Given the description of an element on the screen output the (x, y) to click on. 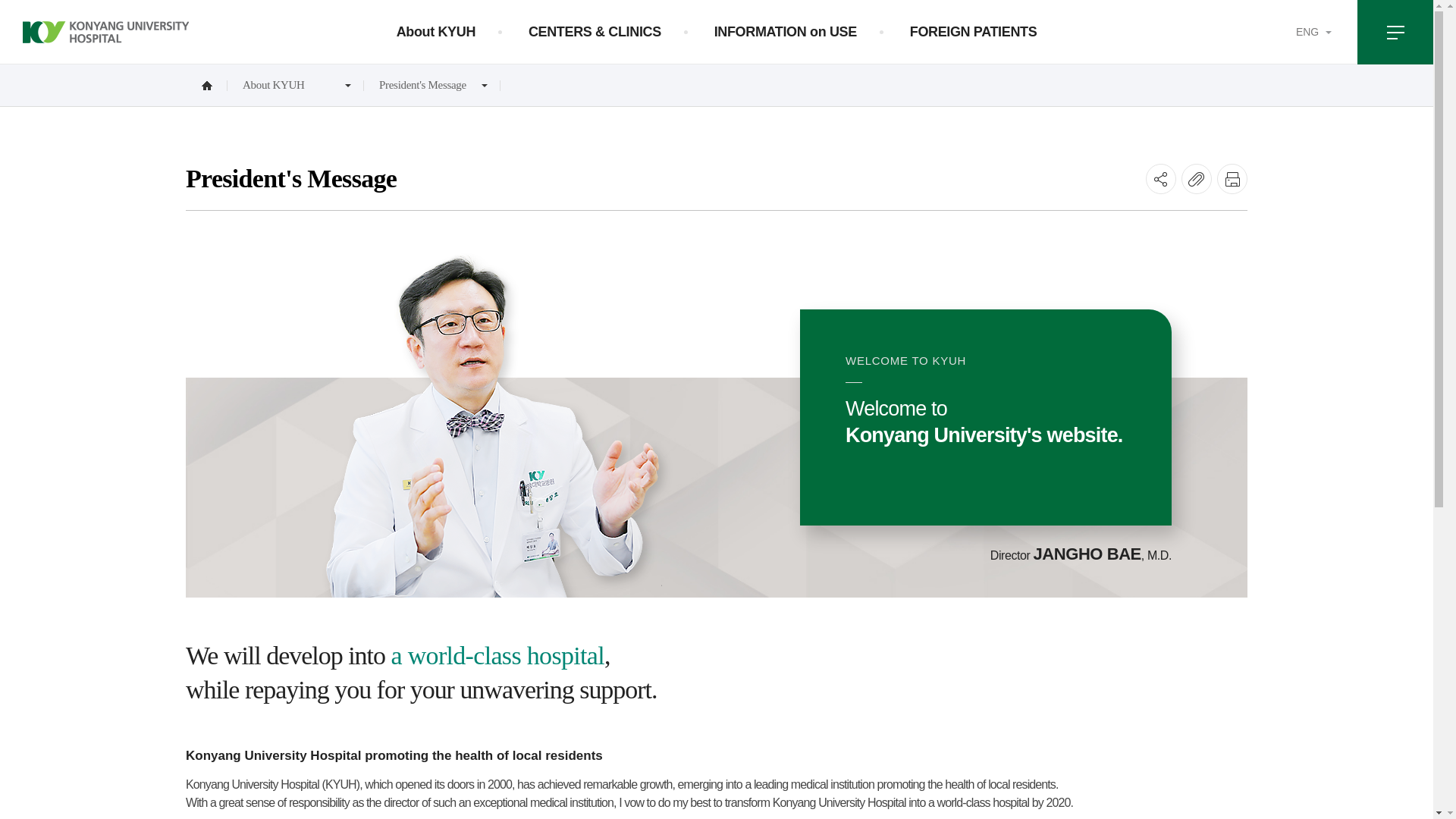
About KYUH (435, 32)
FOREIGN PATIENTS (973, 32)
INFORMATION on USE (785, 32)
